Given the description of an element on the screen output the (x, y) to click on. 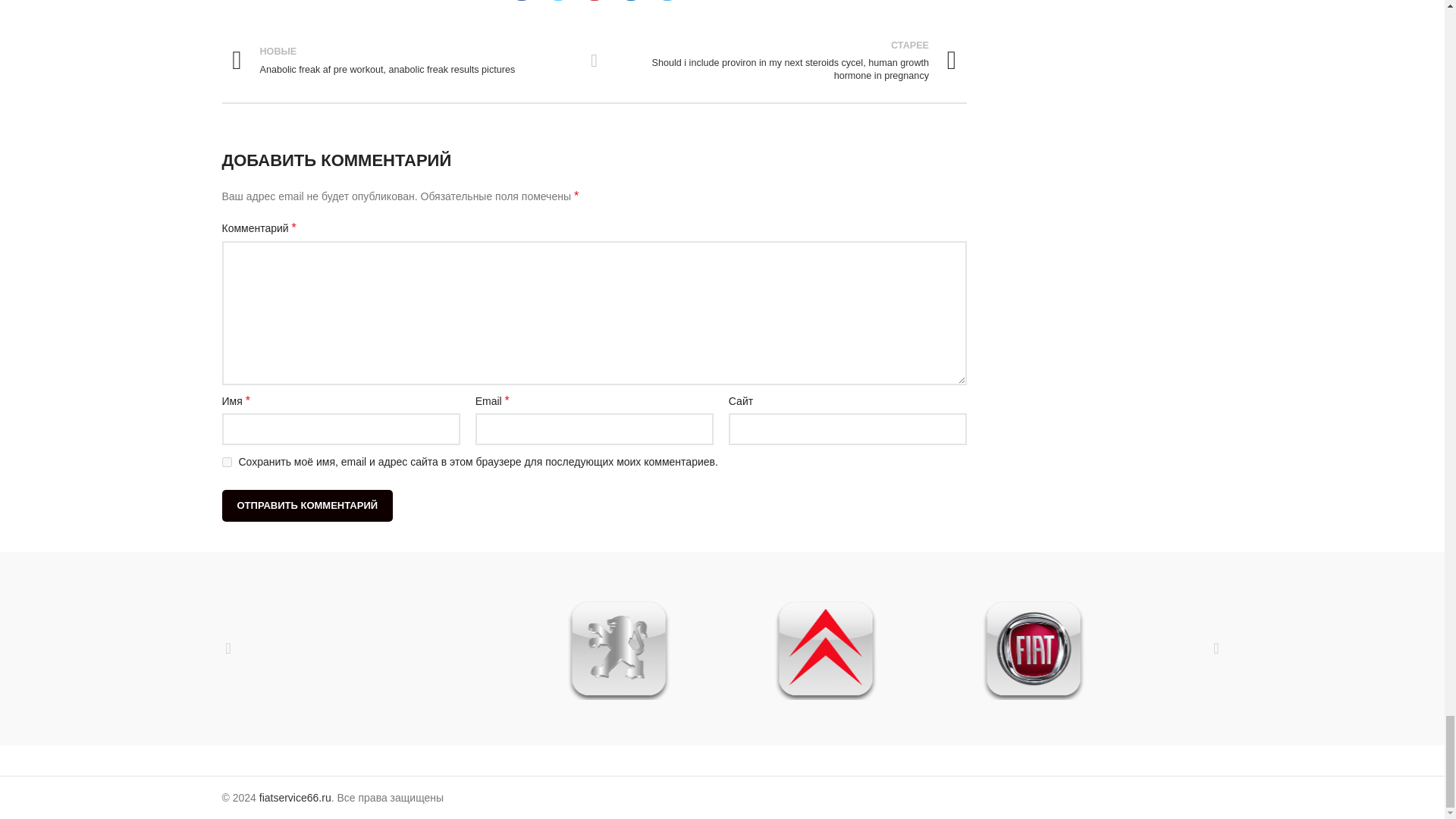
yes (226, 461)
